Given the description of an element on the screen output the (x, y) to click on. 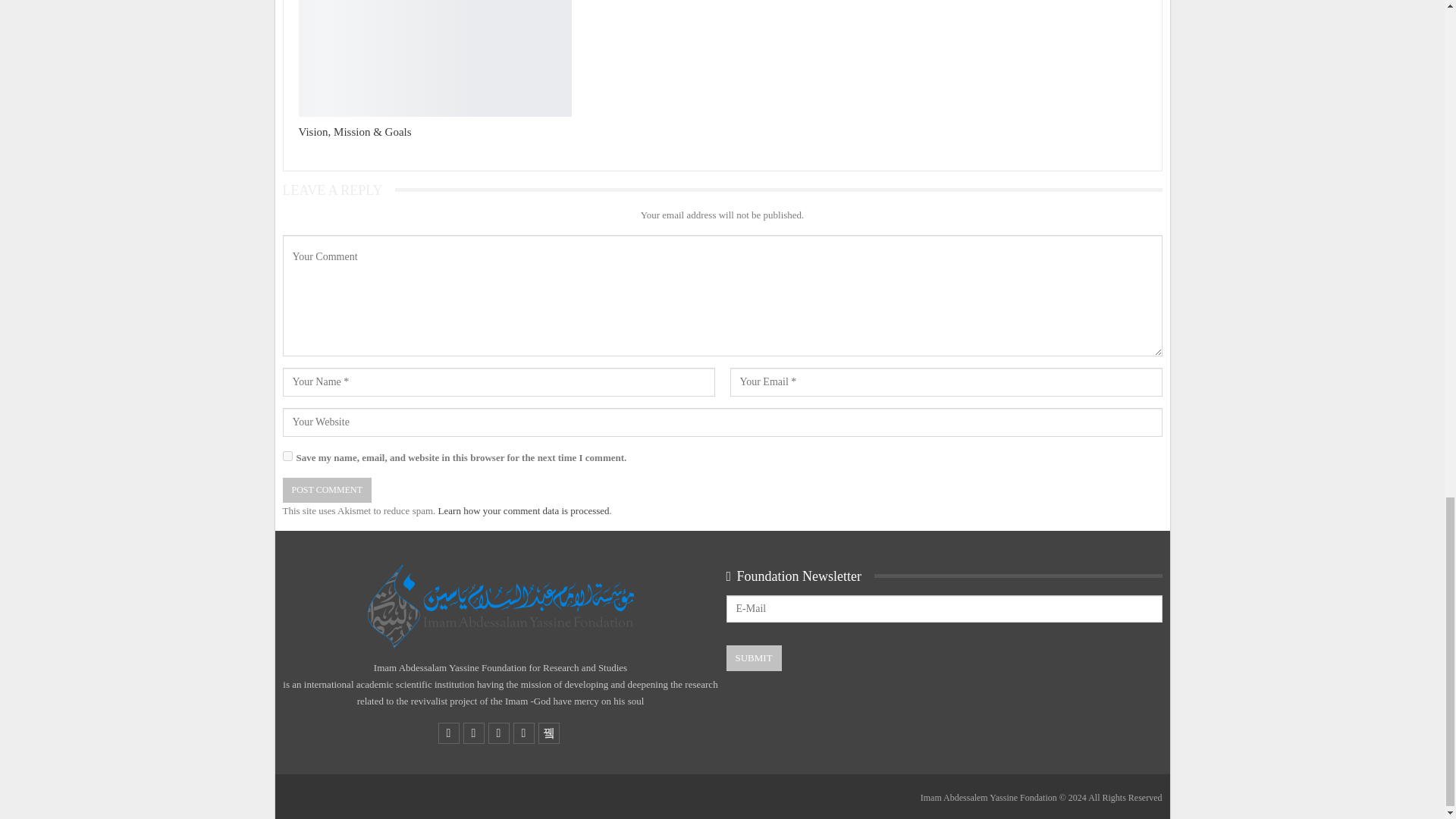
yes (287, 456)
Post Comment (326, 489)
Submit (753, 657)
